Given the description of an element on the screen output the (x, y) to click on. 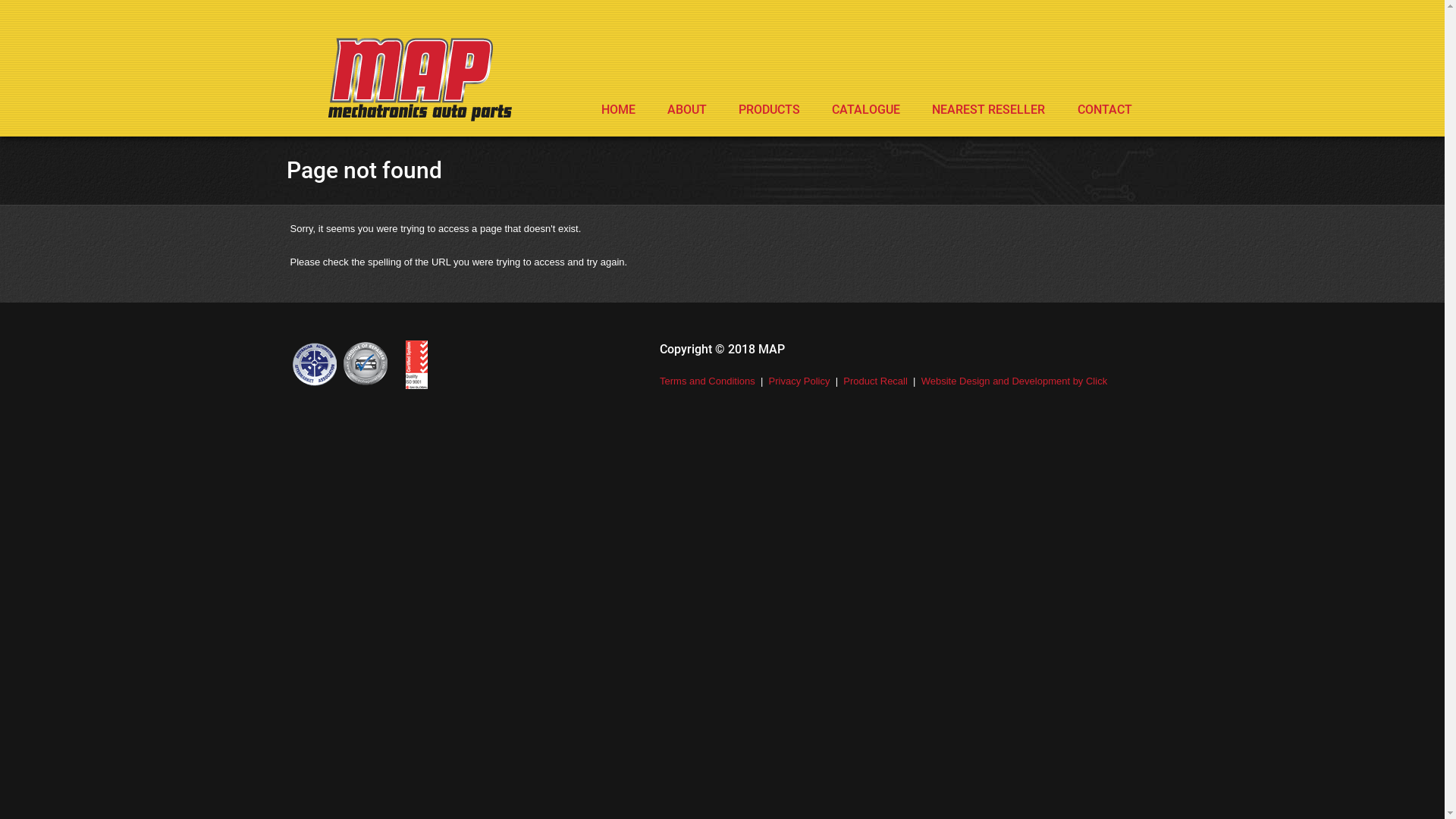
MAP - Mechatronics Auto Parts Element type: text (419, 79)
Privacy Policy Element type: text (799, 380)
Australian Automotive Aftermarket Association Element type: hover (313, 364)
ABOUT Element type: text (686, 109)
NEAREST RESELLER Element type: text (988, 109)
HOME Element type: text (617, 109)
Website Design and Development by Click Element type: text (1014, 380)
Product Recall Element type: text (875, 380)
CONTACT Element type: text (1104, 109)
Terms and Conditions Element type: text (707, 380)
Choice of Repairer Element type: hover (416, 364)
CATALOGUE Element type: text (865, 109)
PRODUCTS Element type: text (769, 109)
Choice of Repairer Element type: hover (365, 364)
